Given the description of an element on the screen output the (x, y) to click on. 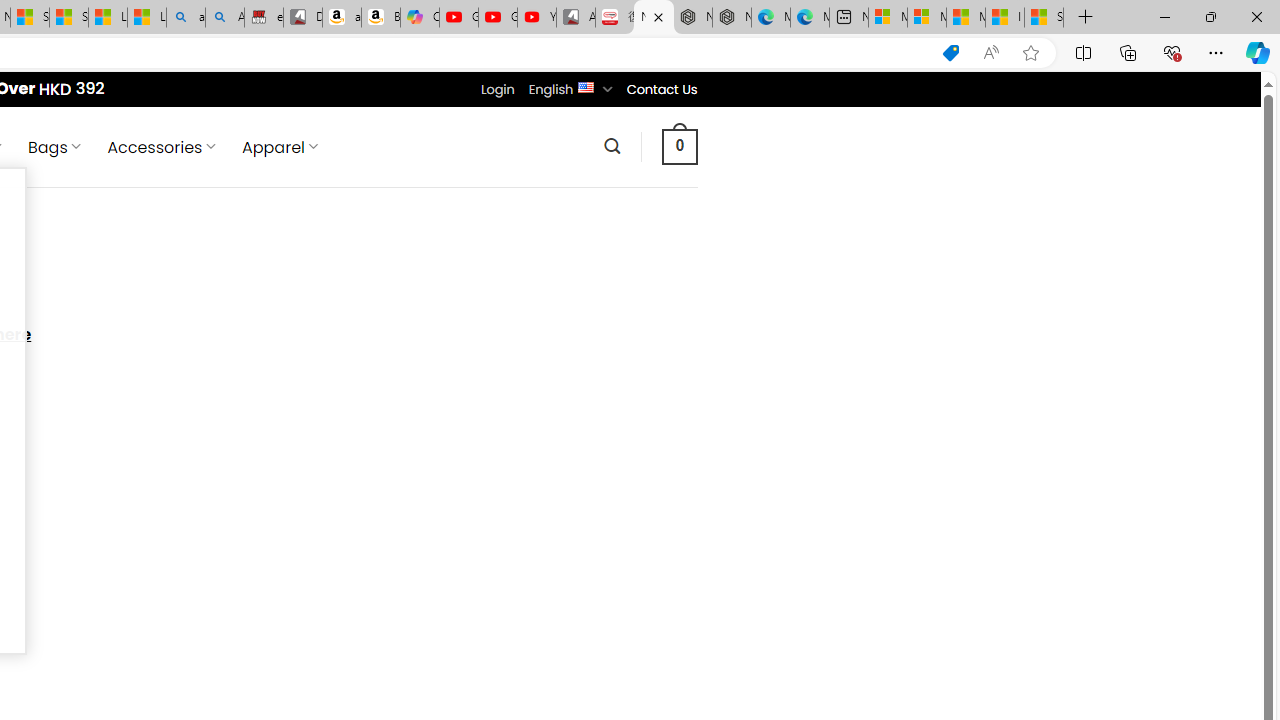
amazon.in/dp/B0CX59H5W7/?tag=gsmcom05-21 (341, 17)
